Given the description of an element on the screen output the (x, y) to click on. 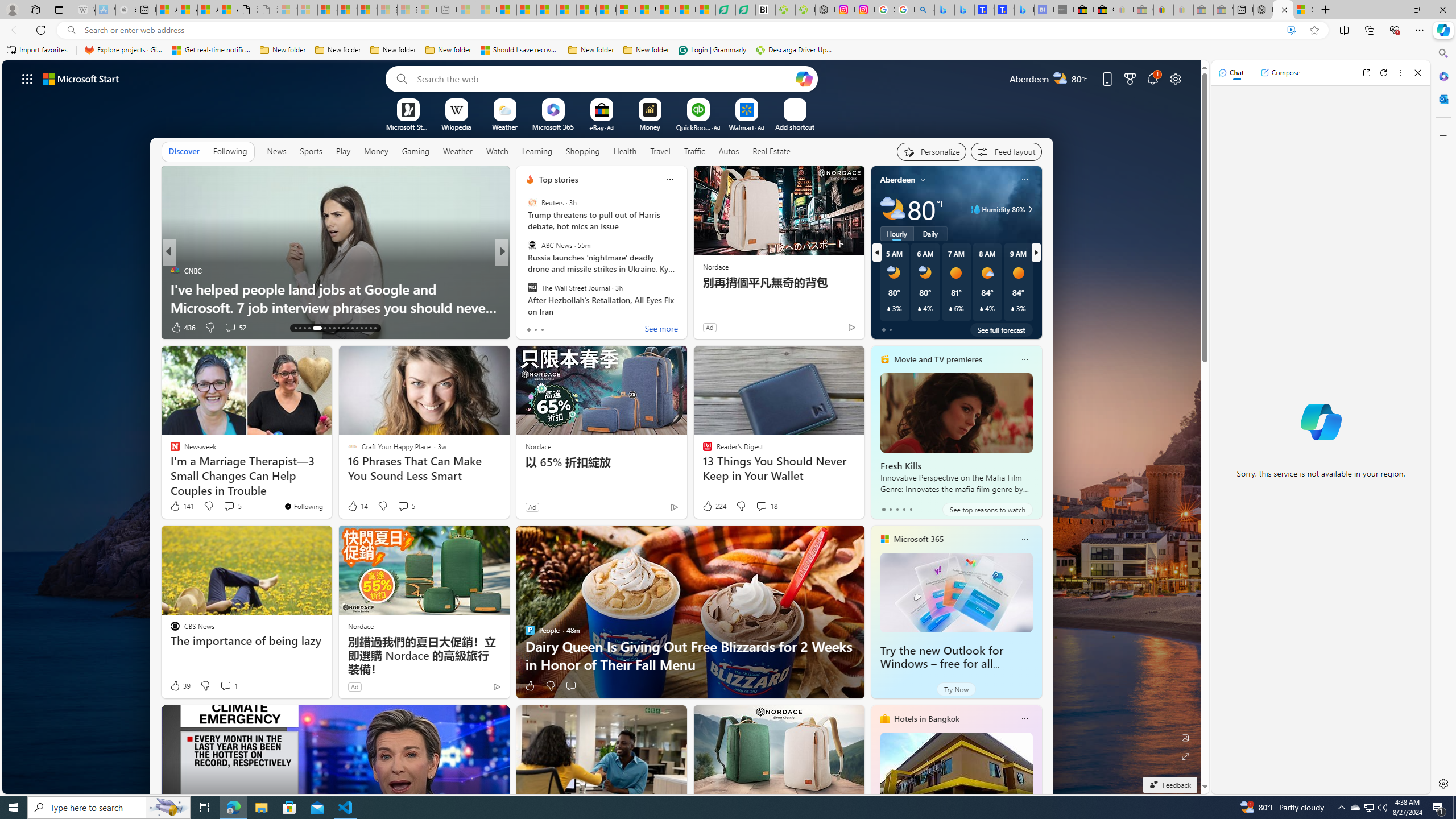
Nvidia va a poner a prueba la paciencia de los inversores (765, 9)
AutomationID: tab-25 (356, 328)
StarsInsider (524, 288)
View comments 8 Comment (580, 327)
AutomationID: tab-20 (333, 328)
Microsoft start (81, 78)
